Given the description of an element on the screen output the (x, y) to click on. 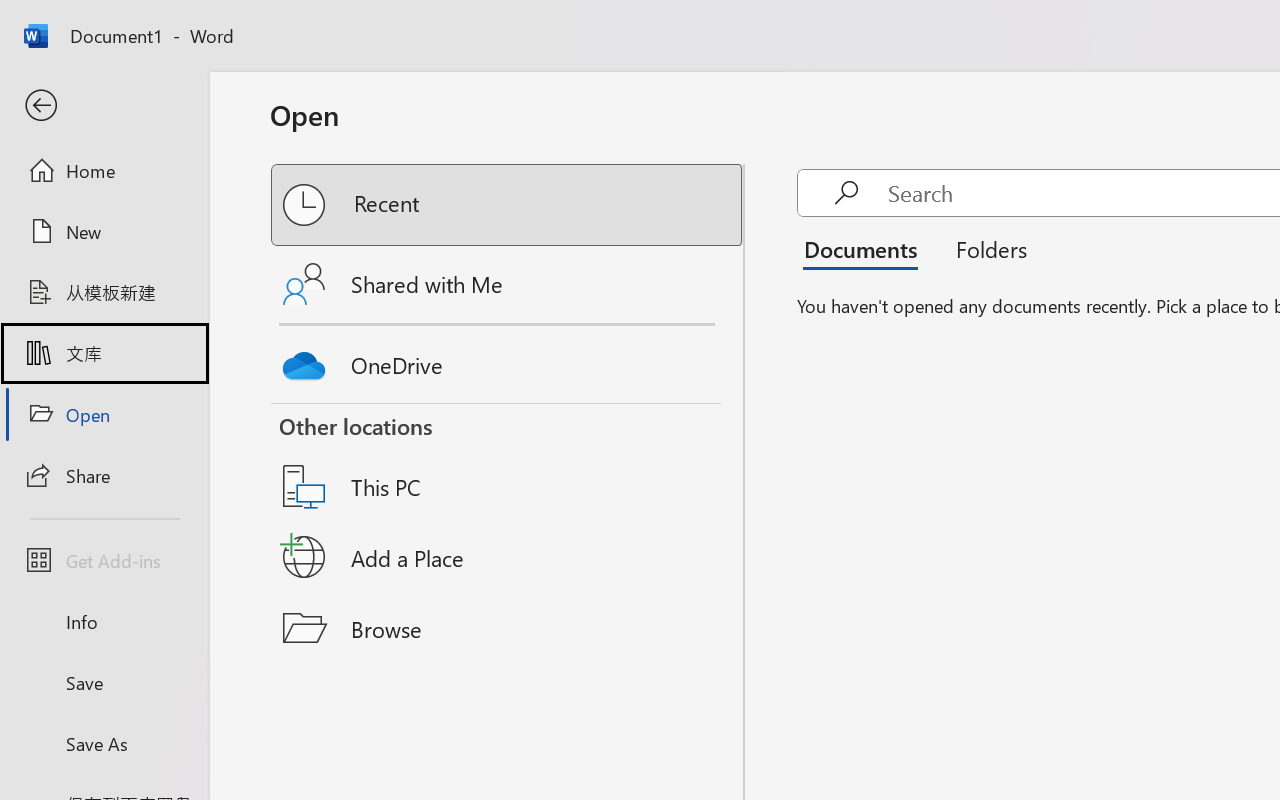
Get Add-ins (104, 560)
OneDrive (507, 359)
This PC (507, 461)
Shared with Me (507, 283)
Info (104, 621)
Save As (104, 743)
New (104, 231)
